Given the description of an element on the screen output the (x, y) to click on. 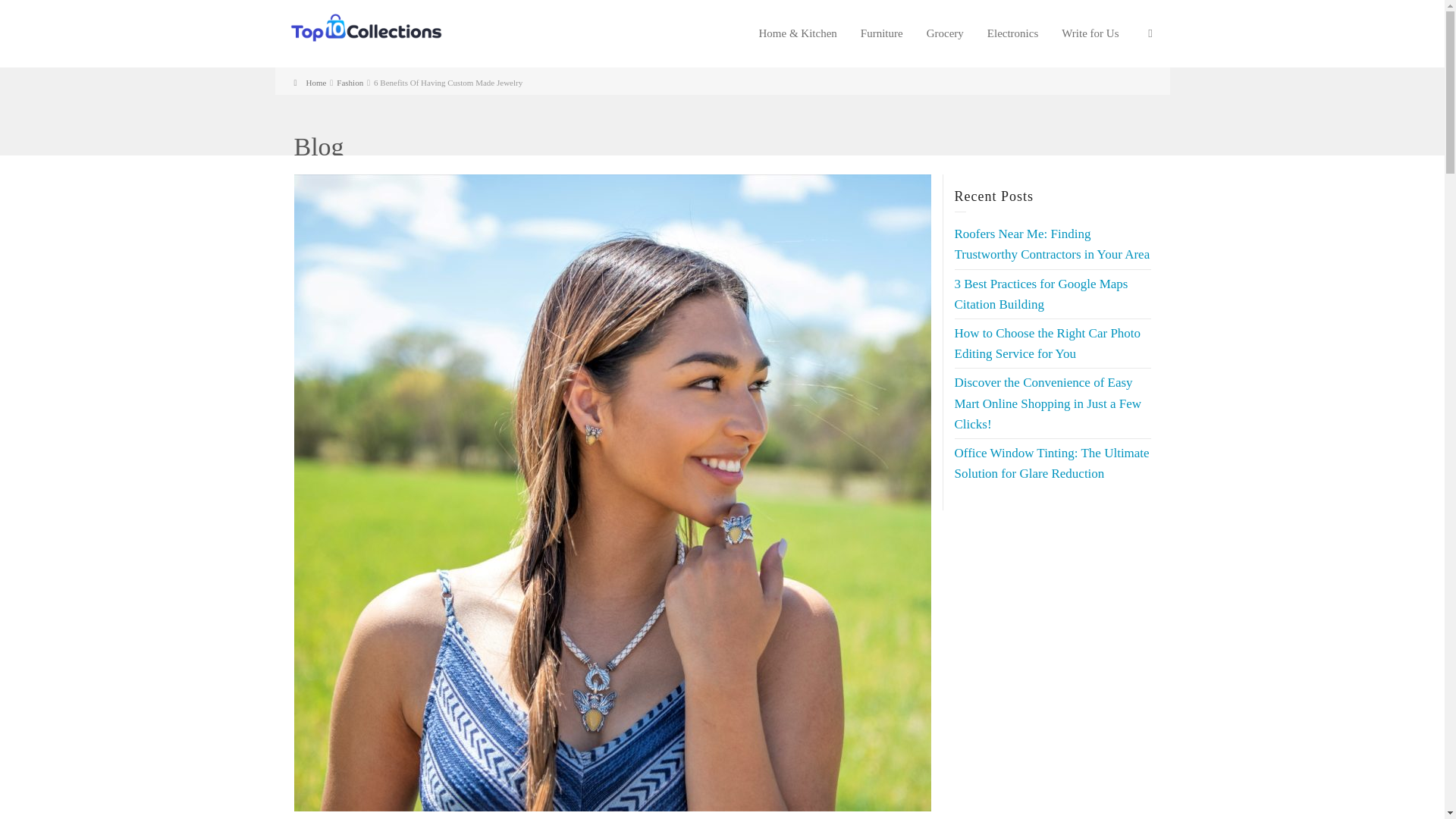
Grocery (945, 33)
3 Best Practices for Google Maps Citation Building (1039, 294)
Electronics (1012, 33)
Furniture (881, 33)
Home (310, 81)
Fashion (349, 81)
Top10Collections (365, 26)
Write for Us (1090, 33)
How to Choose the Right Car Photo Editing Service for You (1046, 343)
